Given the description of an element on the screen output the (x, y) to click on. 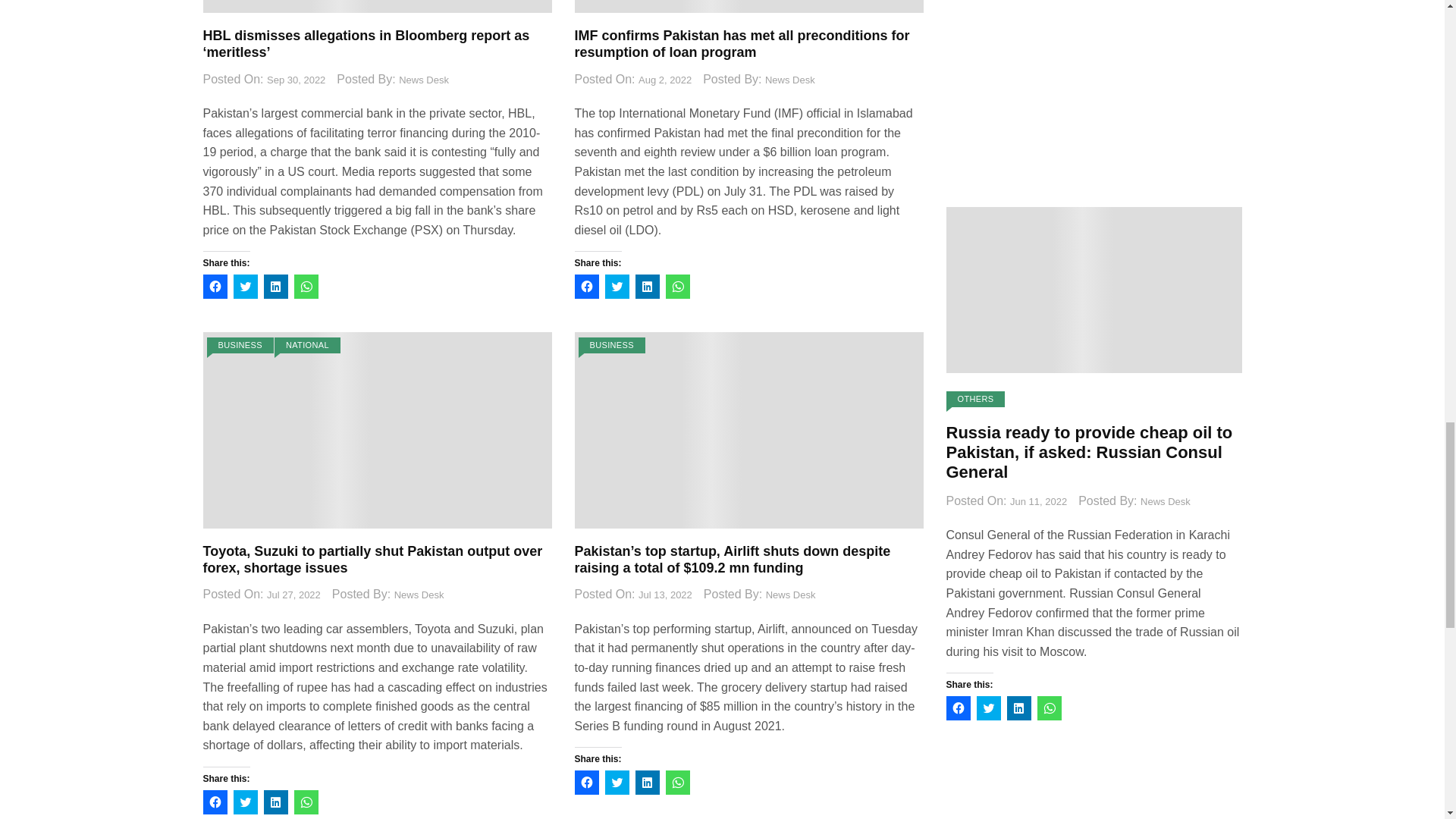
Click to share on LinkedIn (275, 286)
Click to share on Facebook (215, 286)
Click to share on Twitter (244, 286)
Click to share on WhatsApp (306, 286)
